Given the description of an element on the screen output the (x, y) to click on. 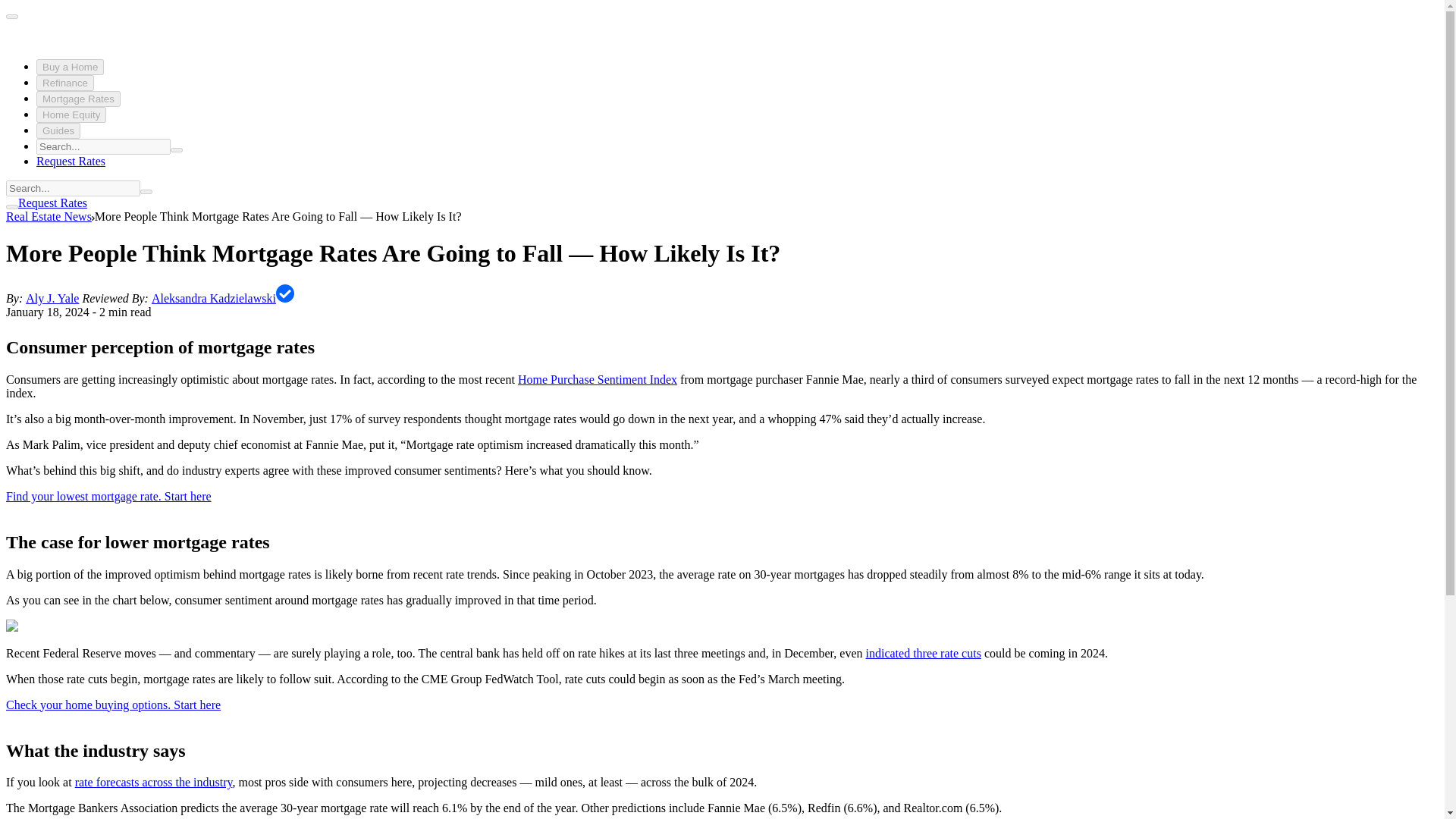
By Aly J. Yale (52, 297)
Buy a Home (69, 66)
Refinance (65, 82)
Reviewed By Aleksandra Kadzielawski (213, 297)
